Given the description of an element on the screen output the (x, y) to click on. 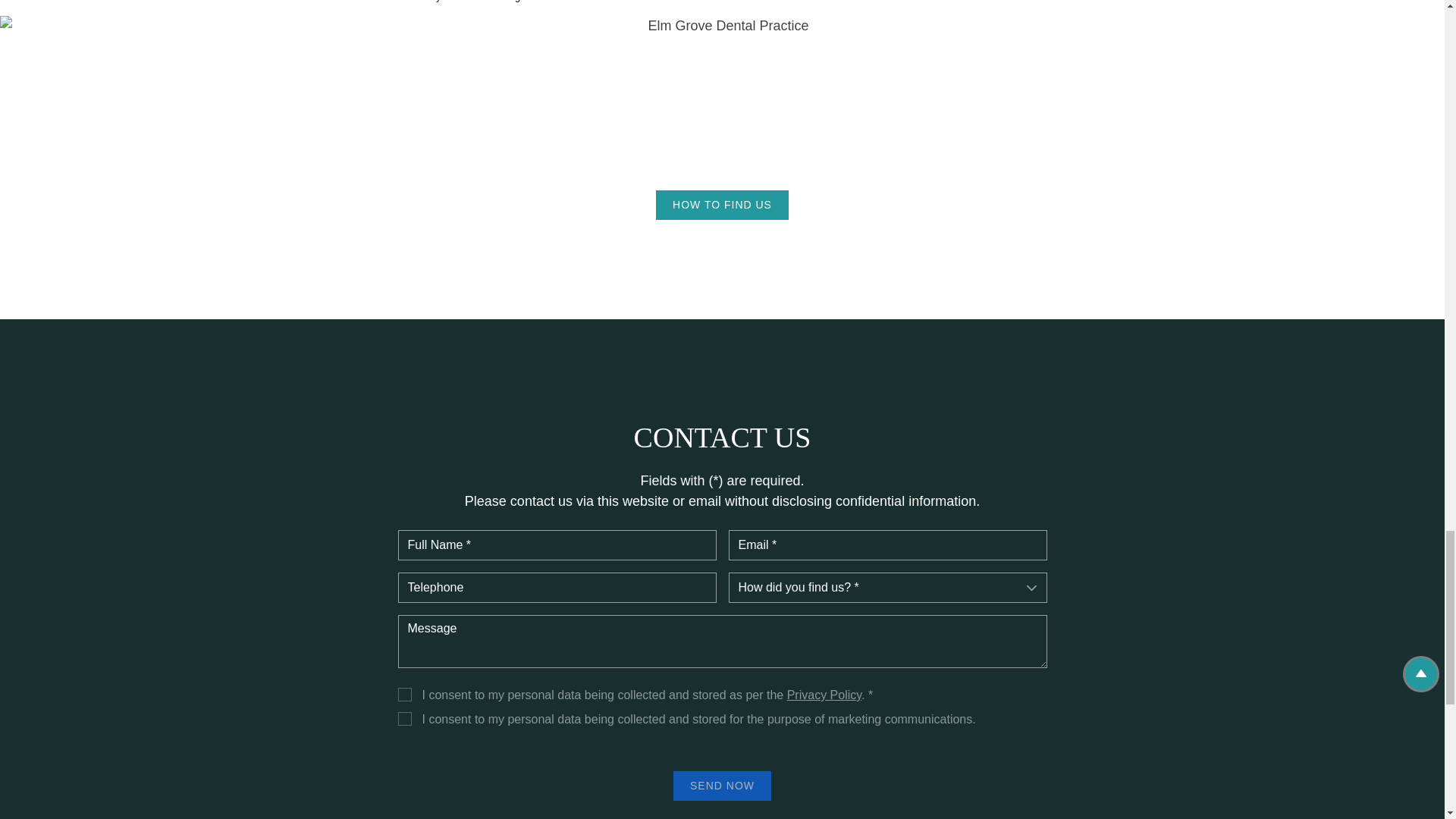
Cosmetic Dentistry (399, 1)
Send Now (721, 785)
White Fillings (496, 1)
HOW TO FIND US (722, 205)
Privacy Policy (824, 694)
Yes (403, 694)
Telephone (556, 587)
Treatments (306, 1)
Yes (403, 718)
Send Now (721, 785)
Home (243, 1)
